Given the description of an element on the screen output the (x, y) to click on. 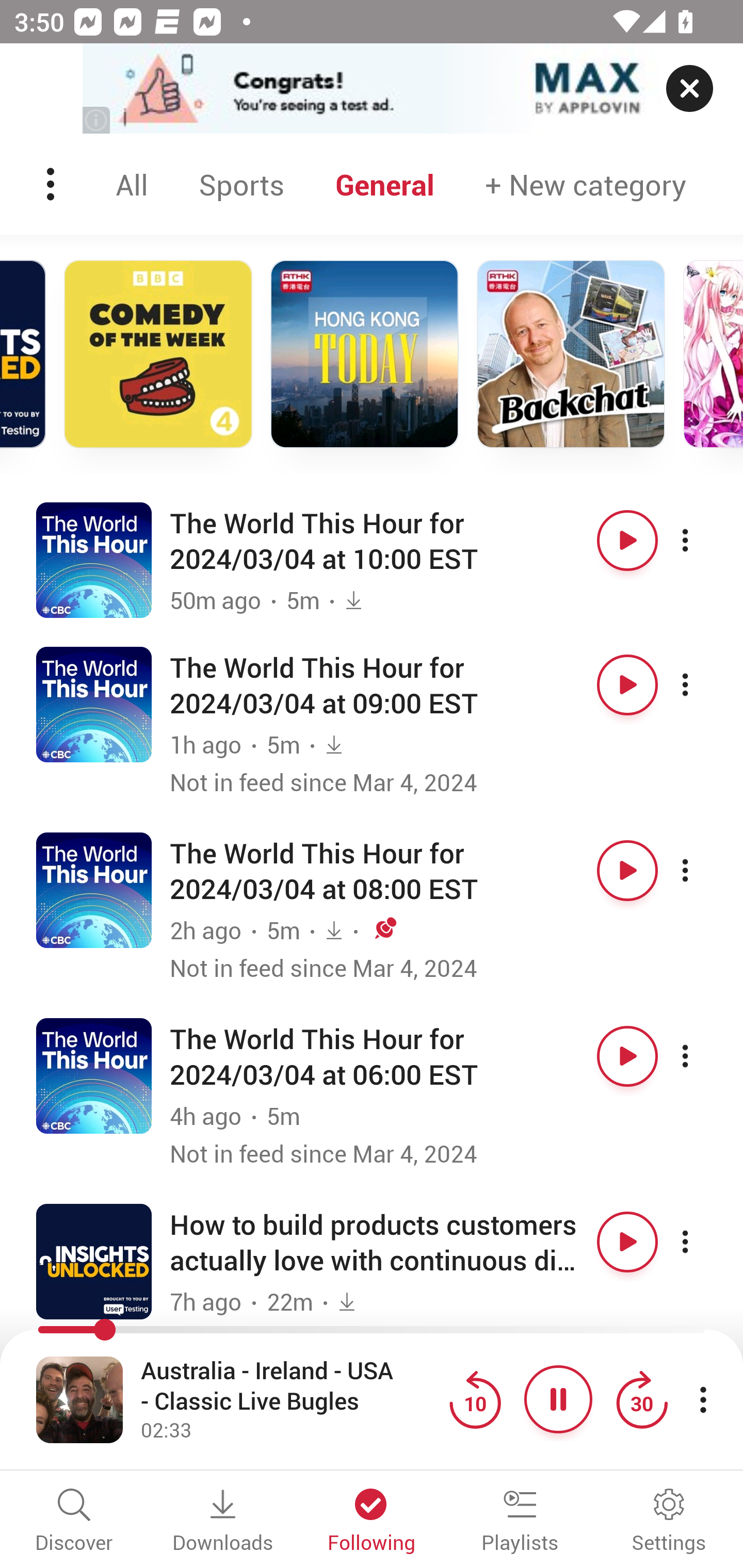
app-monetization (371, 88)
(i) (96, 119)
Menu (52, 184)
All (131, 184)
Sports (241, 184)
General (384, 184)
New category + New category (585, 184)
Comedy of the Week (157, 354)
Hong Kong Today (364, 354)
Backchat (570, 354)
Play button (627, 540)
More options (703, 540)
Open series The World This Hour (93, 559)
Play button (627, 685)
More options (703, 685)
Open series The World This Hour (93, 704)
Play button (627, 871)
More options (703, 871)
Open series The World This Hour (93, 890)
Play button (627, 1056)
More options (703, 1056)
Open series The World This Hour (93, 1075)
Play button (627, 1241)
More options (703, 1241)
Open series Insights Unlocked (93, 1261)
Open fullscreen player (79, 1399)
More player controls (703, 1399)
Australia - Ireland - USA - Classic Live Bugles (290, 1385)
Pause button (558, 1398)
Jump back (475, 1399)
Jump forward (641, 1399)
Discover (74, 1521)
Downloads (222, 1521)
Following (371, 1521)
Playlists (519, 1521)
Settings (668, 1521)
